Given the description of an element on the screen output the (x, y) to click on. 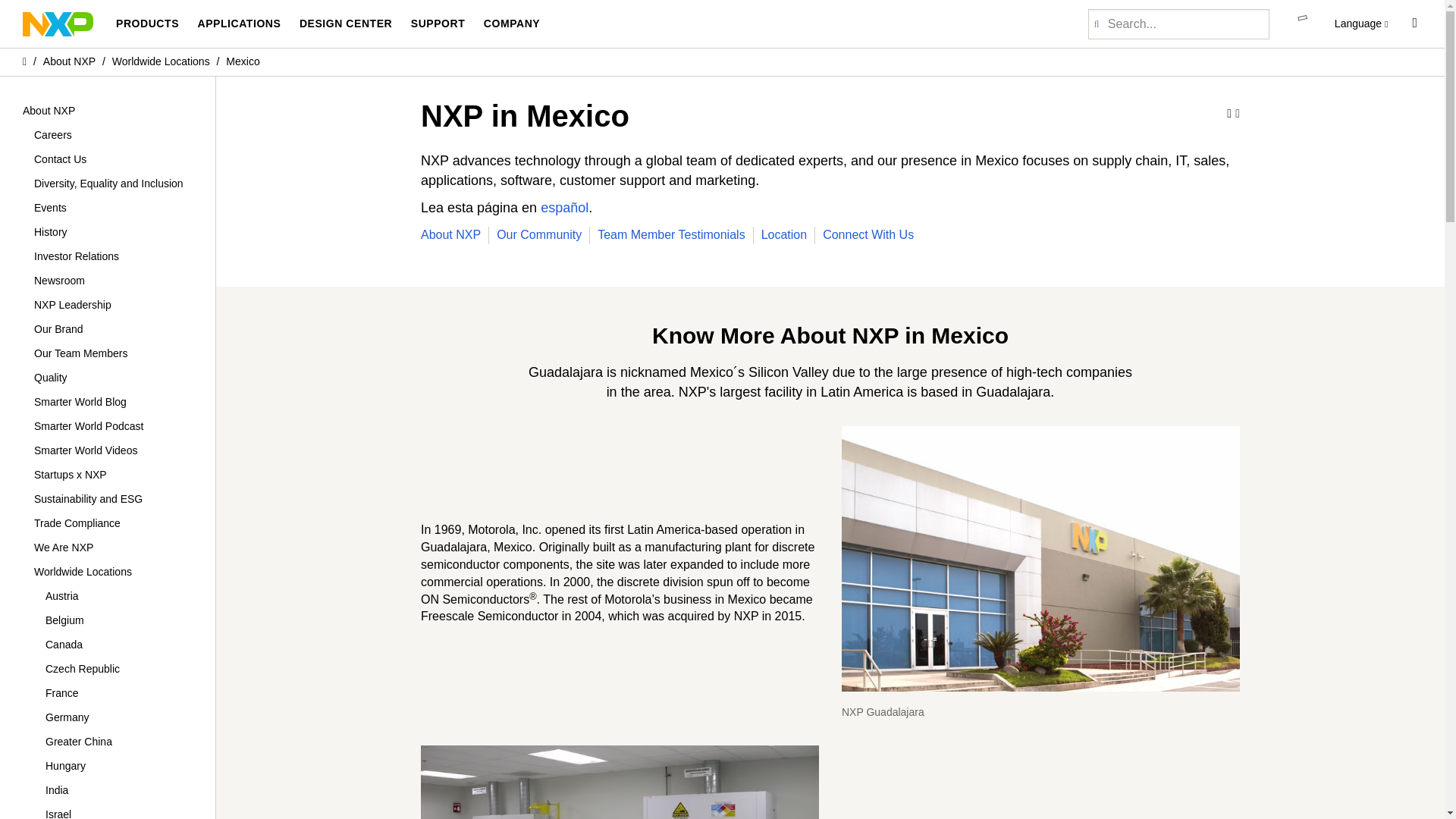
Worldwide Locations (160, 61)
PRODUCTS (147, 23)
Language  (1361, 23)
APPLICATIONS (238, 23)
DESIGN CENTER (345, 23)
NXP Semiconductor (58, 23)
COMPANY (511, 23)
About NXP (69, 61)
SUPPORT (437, 23)
